Given the description of an element on the screen output the (x, y) to click on. 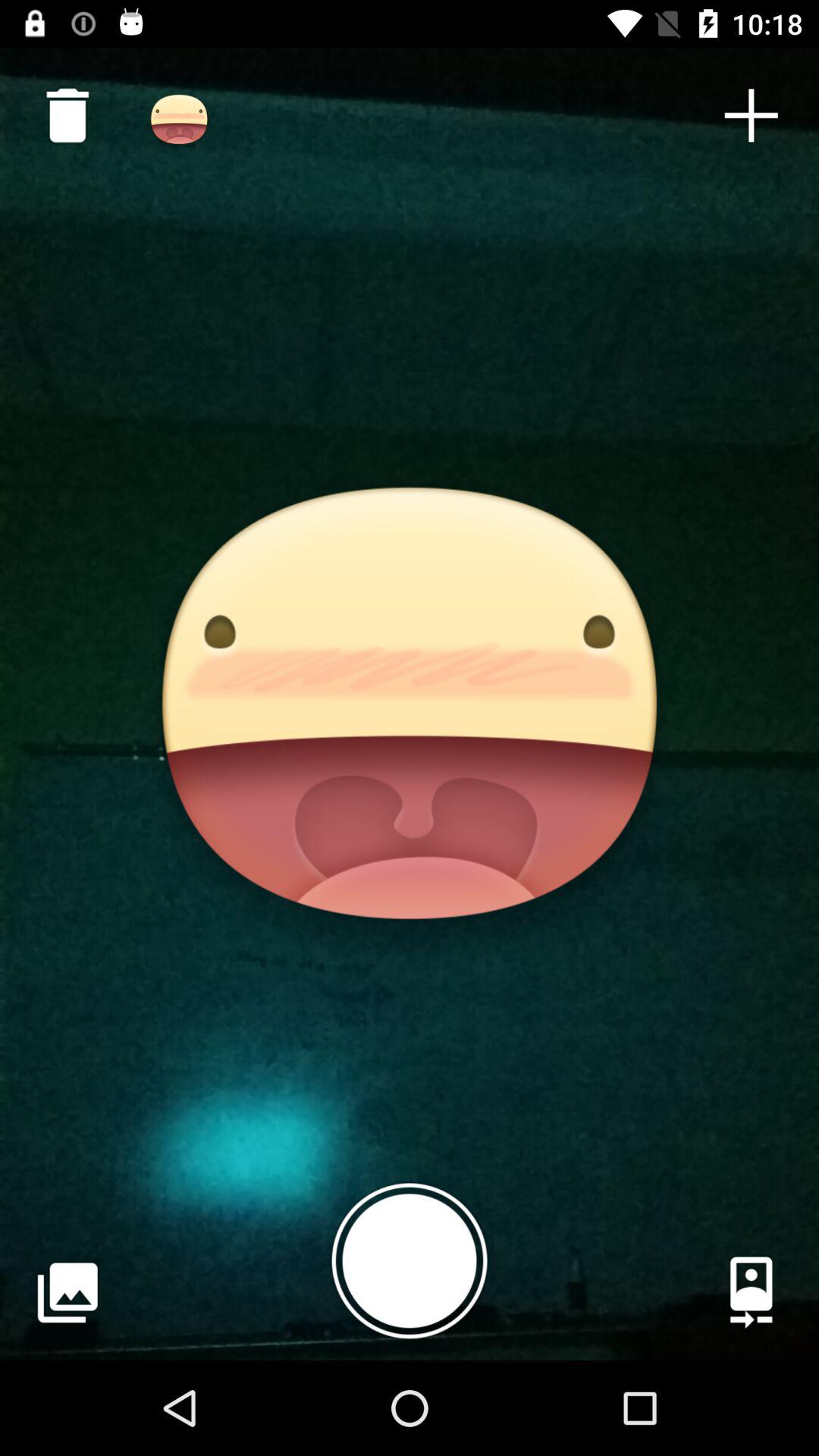
turn on icon at the bottom right corner (751, 1292)
